Given the description of an element on the screen output the (x, y) to click on. 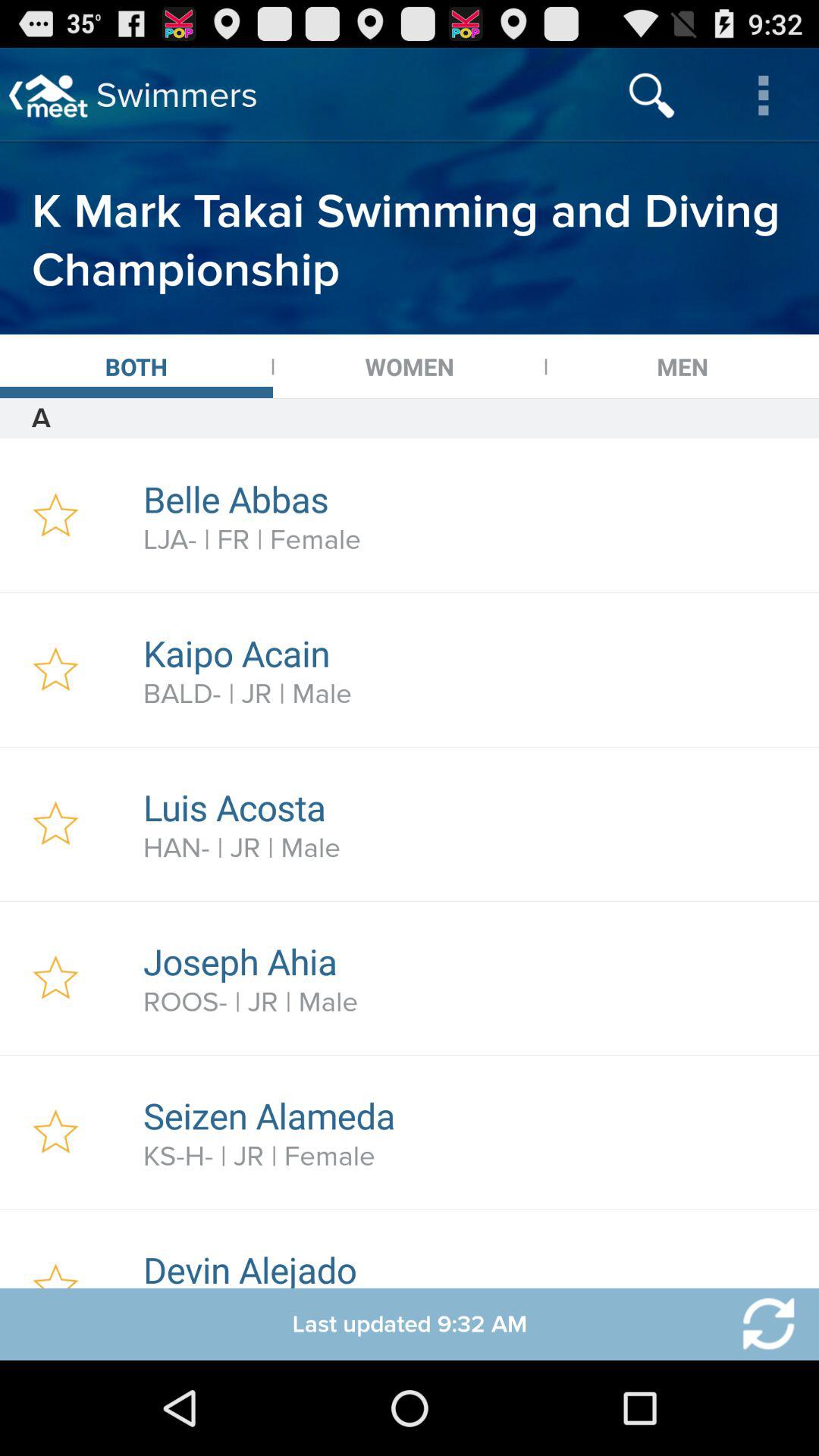
favorite/follow a swimmer (55, 515)
